Given the description of an element on the screen output the (x, y) to click on. 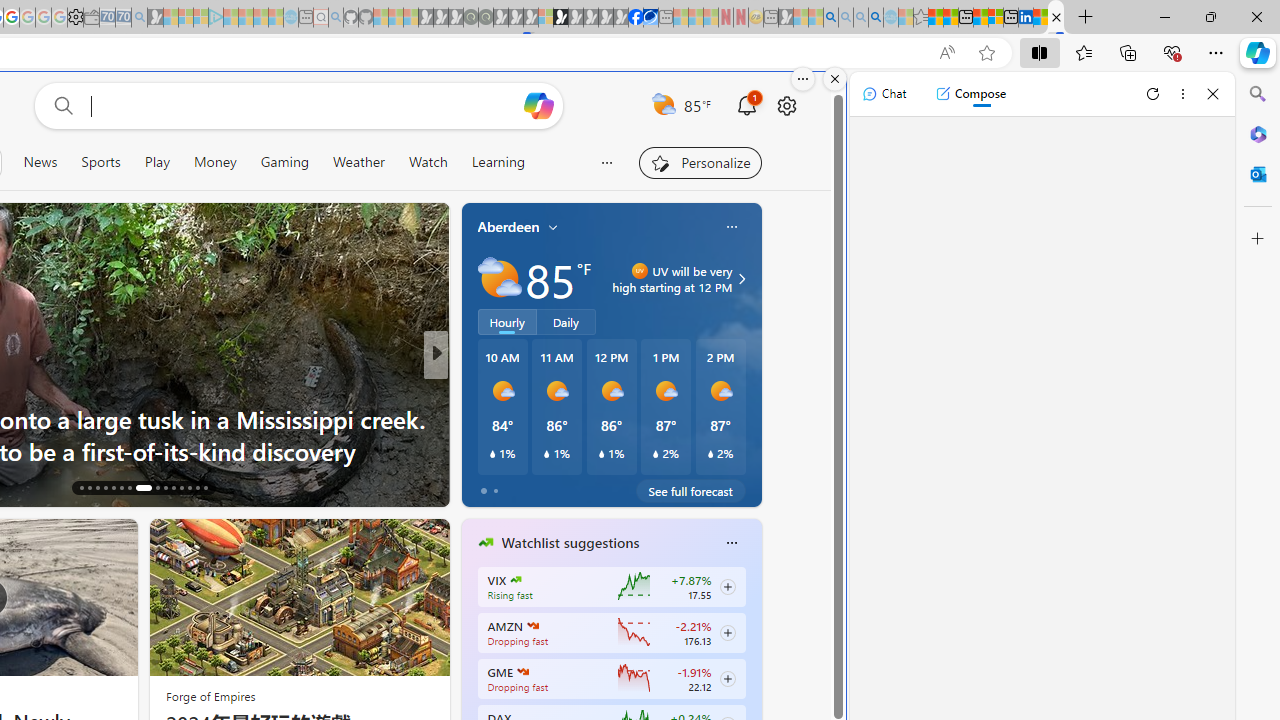
Hourly (507, 321)
Show more topics (607, 162)
Microsoft Start Gaming - Sleeping (155, 17)
Bing Real Estate - Home sales and rental listings - Sleeping (139, 17)
See more (113, 542)
Microsoft Start - Sleeping (260, 17)
Play (156, 162)
AutomationID: tab-29 (197, 487)
Dislike (525, 486)
Cheap Car Rentals - Save70.com - Sleeping (123, 17)
Gaming (285, 161)
32 Like (487, 486)
